Given the description of an element on the screen output the (x, y) to click on. 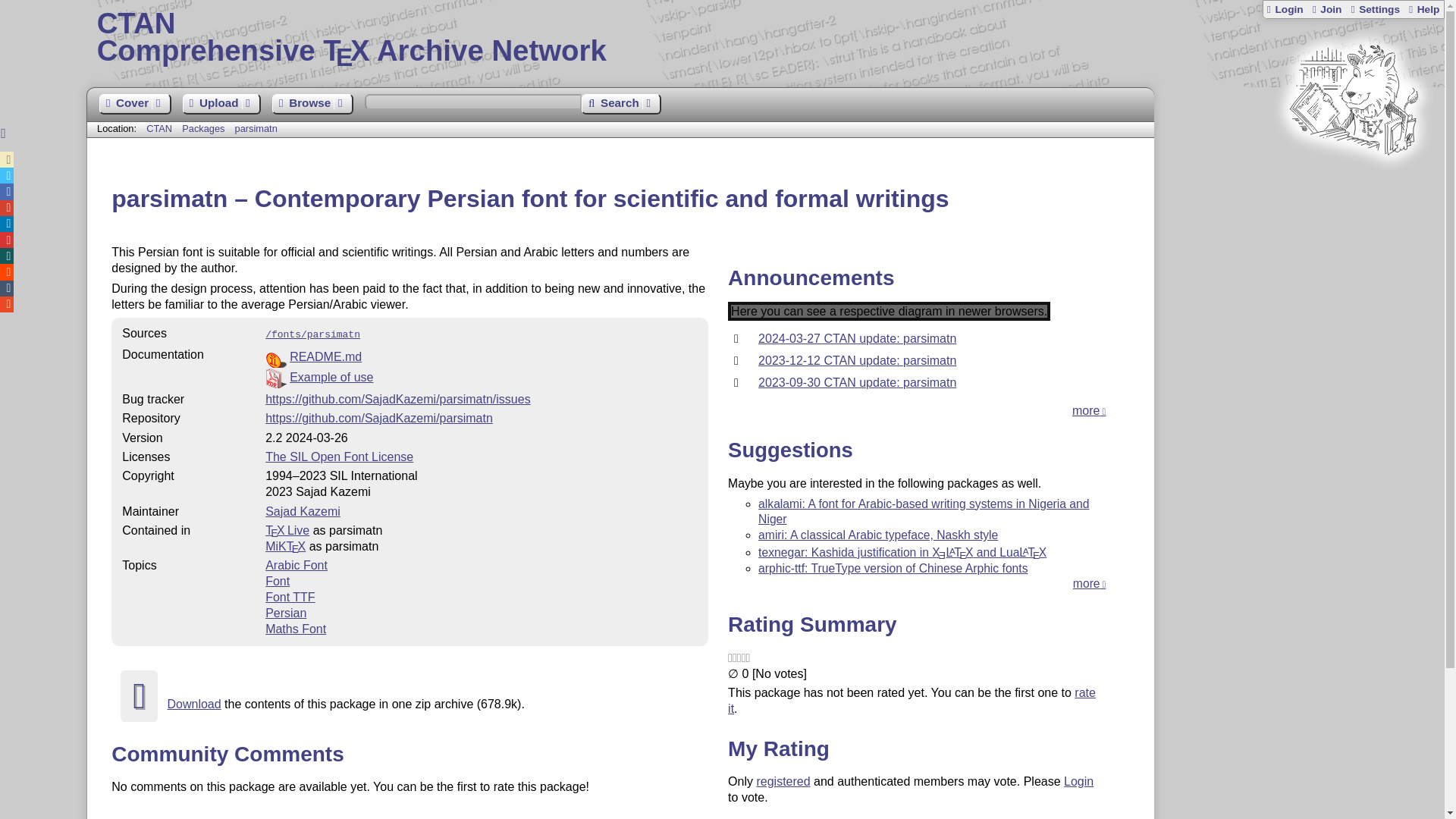
Spectrum indicating the announcements for the package (888, 311)
Sajad Kazemi (302, 511)
Packages (204, 128)
parsimatn (256, 128)
Portable Document Format (480, 377)
Read Me file (480, 357)
Example of use (330, 377)
The SIL Open Font License (338, 456)
README.md (325, 356)
Get some information about this Web site (1423, 8)
Upload (221, 104)
Search (620, 104)
Cover (134, 104)
Login (765, 37)
